Given the description of an element on the screen output the (x, y) to click on. 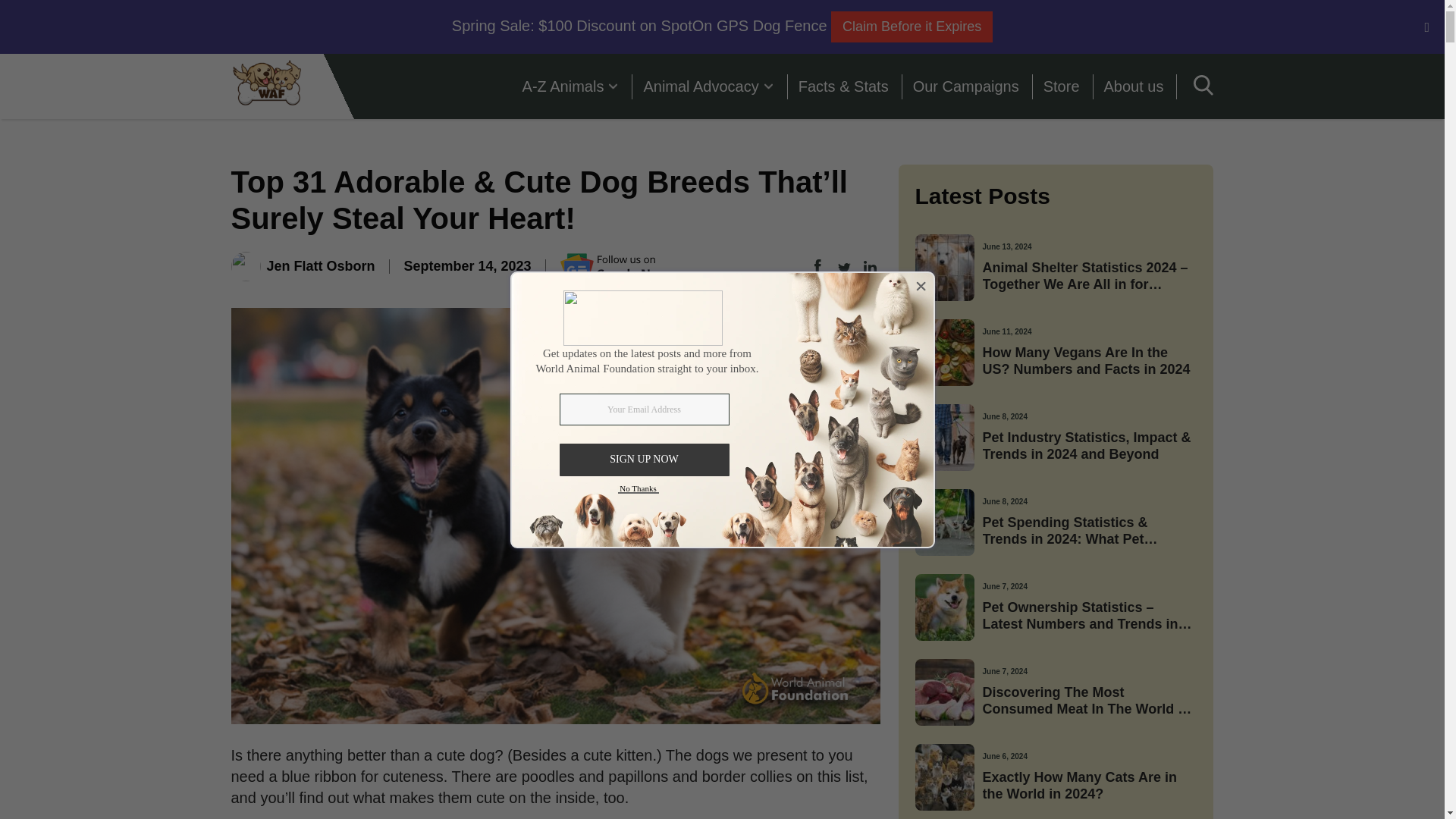
How Many Vegans Are In the US? Numbers and Facts in 2024 (1088, 360)
Discovering The Most Consumed Meat In The World in 2024 (1088, 700)
A-Z Animals (571, 86)
Exactly How Many Cats Are in the World in 2024? (1088, 785)
